Given the description of an element on the screen output the (x, y) to click on. 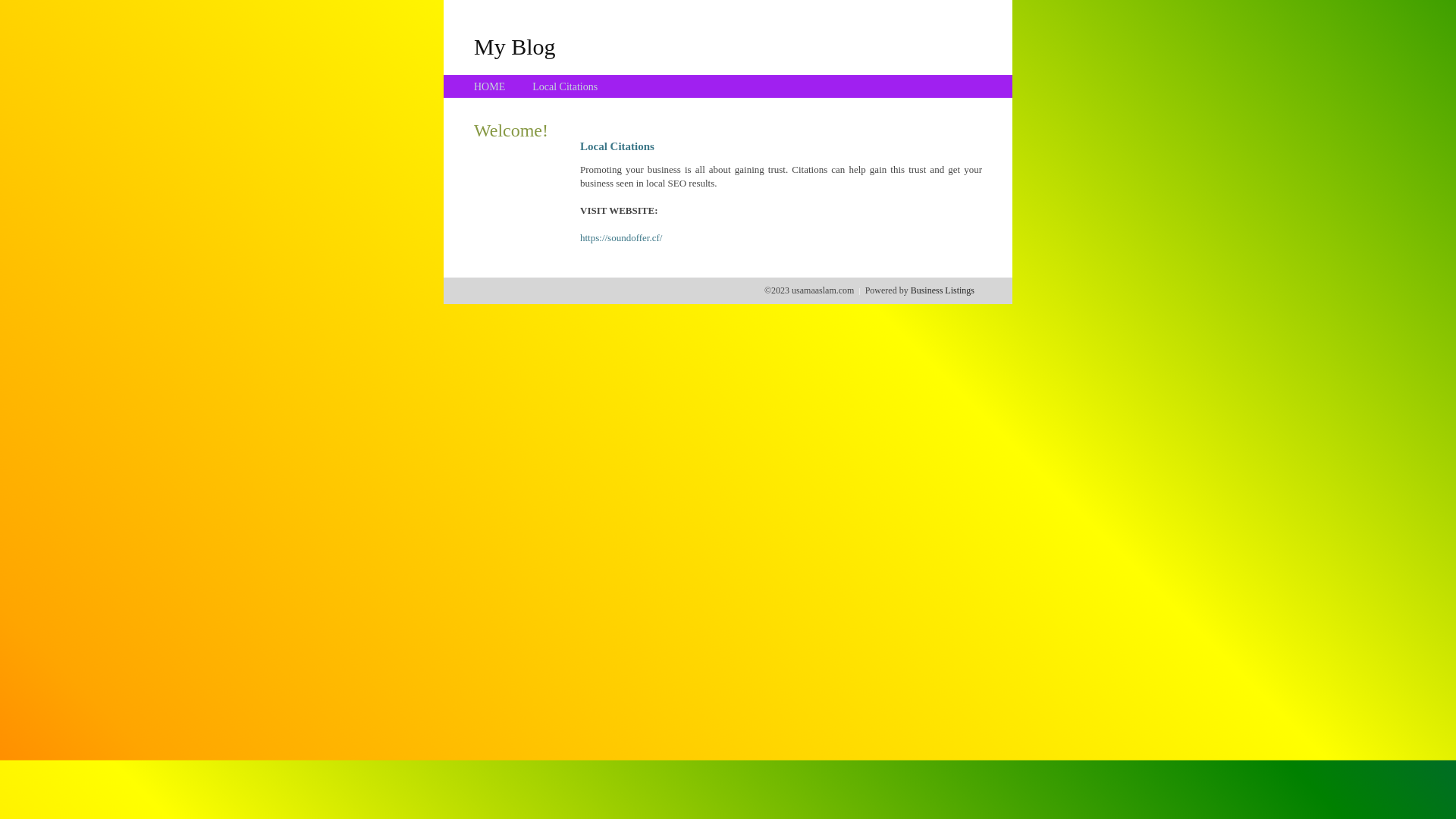
My Blog Element type: text (514, 46)
https://soundoffer.cf/ Element type: text (621, 237)
Local Citations Element type: text (564, 86)
HOME Element type: text (489, 86)
Business Listings Element type: text (942, 290)
